Given the description of an element on the screen output the (x, y) to click on. 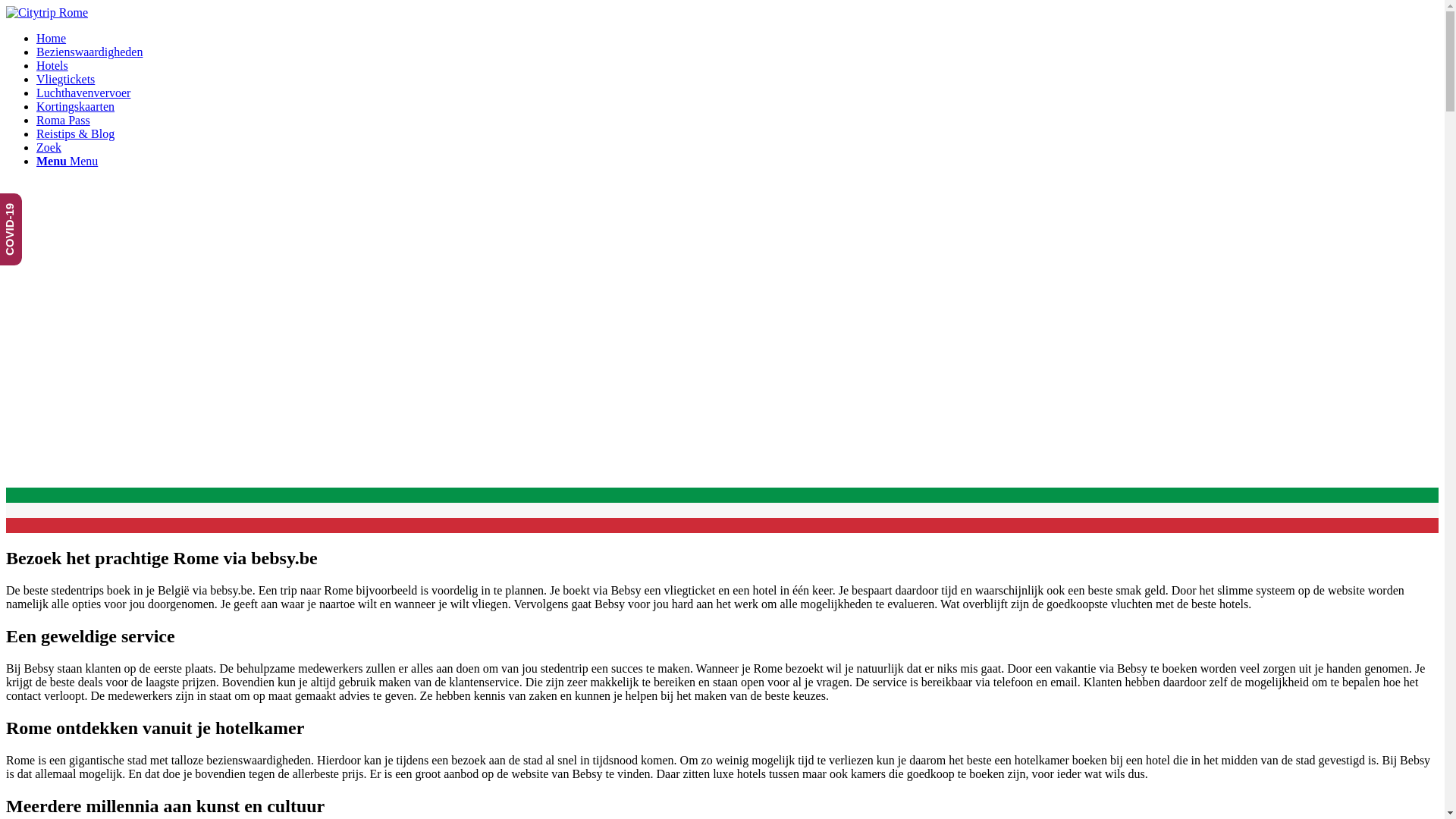
Hotels Element type: text (52, 65)
Bezienswaardigheden Element type: text (89, 51)
Menu Menu Element type: text (66, 160)
Roma Pass Element type: text (63, 119)
Reistips & Blog Element type: text (75, 133)
Home Element type: text (50, 37)
Kortingskaarten Element type: text (75, 106)
Vliegtickets Element type: text (65, 78)
Zoek Element type: text (48, 147)
Luchthavenvervoer Element type: text (83, 92)
